Given the description of an element on the screen output the (x, y) to click on. 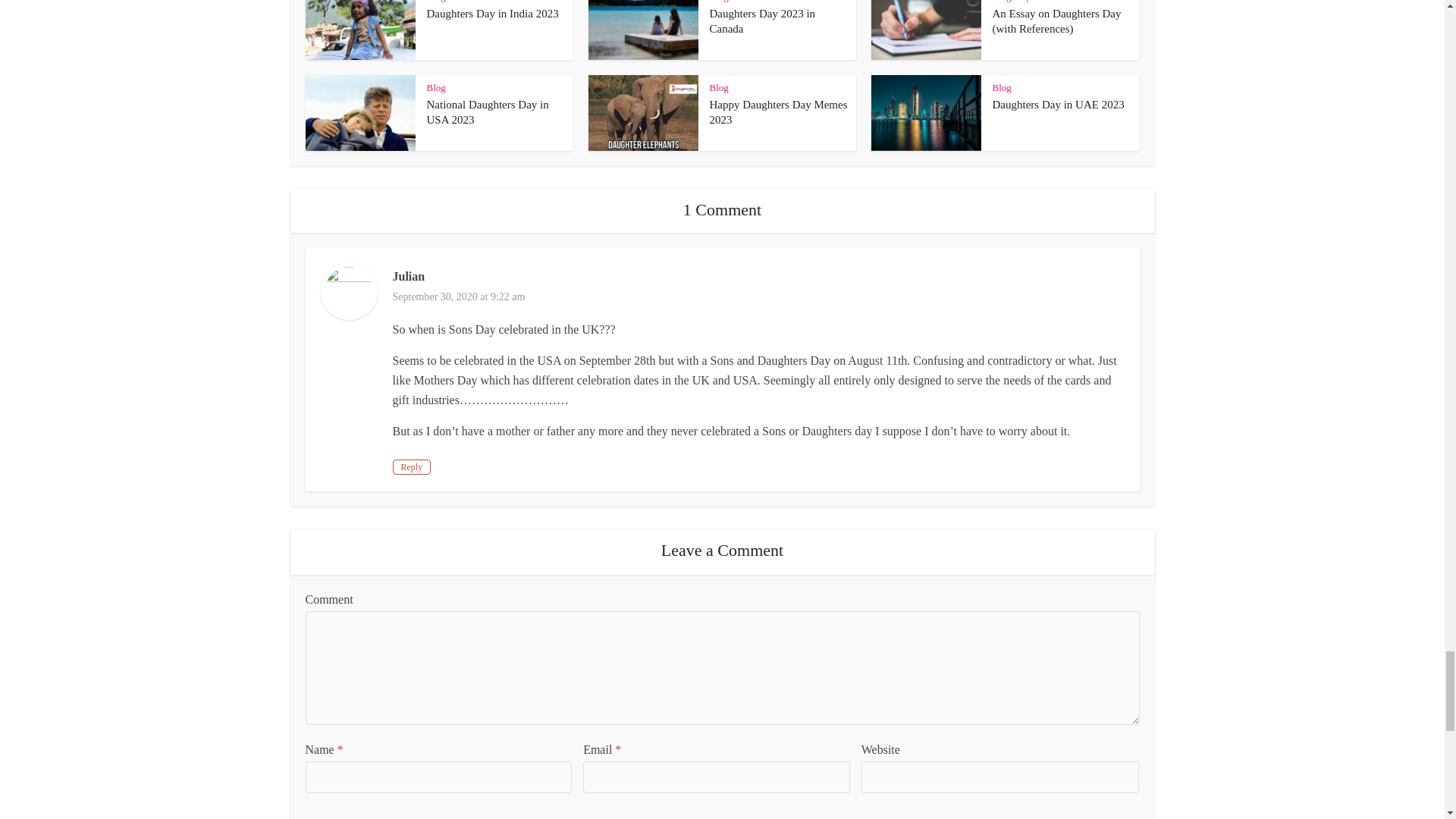
Daughters Day in India 2023 (491, 13)
National Daughters Day in USA 2023 (487, 112)
Blog (435, 1)
Daughters Day 2023 in Canada (762, 21)
